Given the description of an element on the screen output the (x, y) to click on. 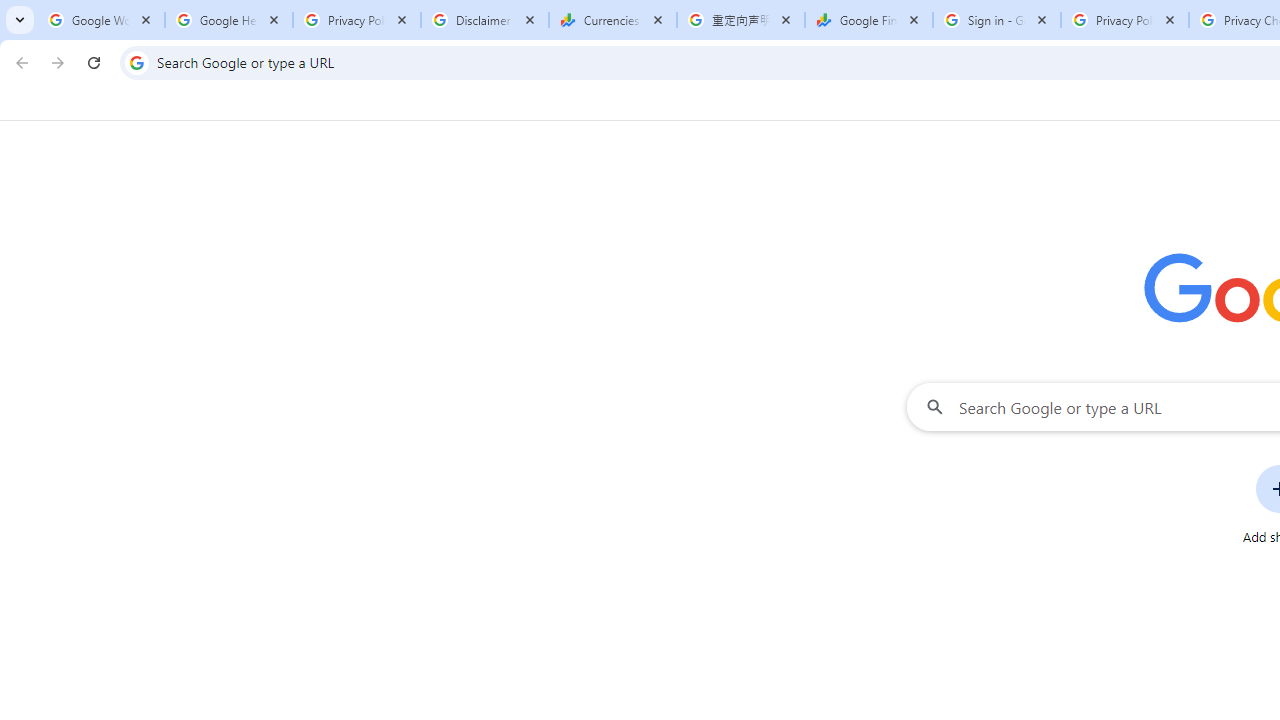
Sign in - Google Accounts (997, 20)
Google Workspace Admin Community (101, 20)
